Given the description of an element on the screen output the (x, y) to click on. 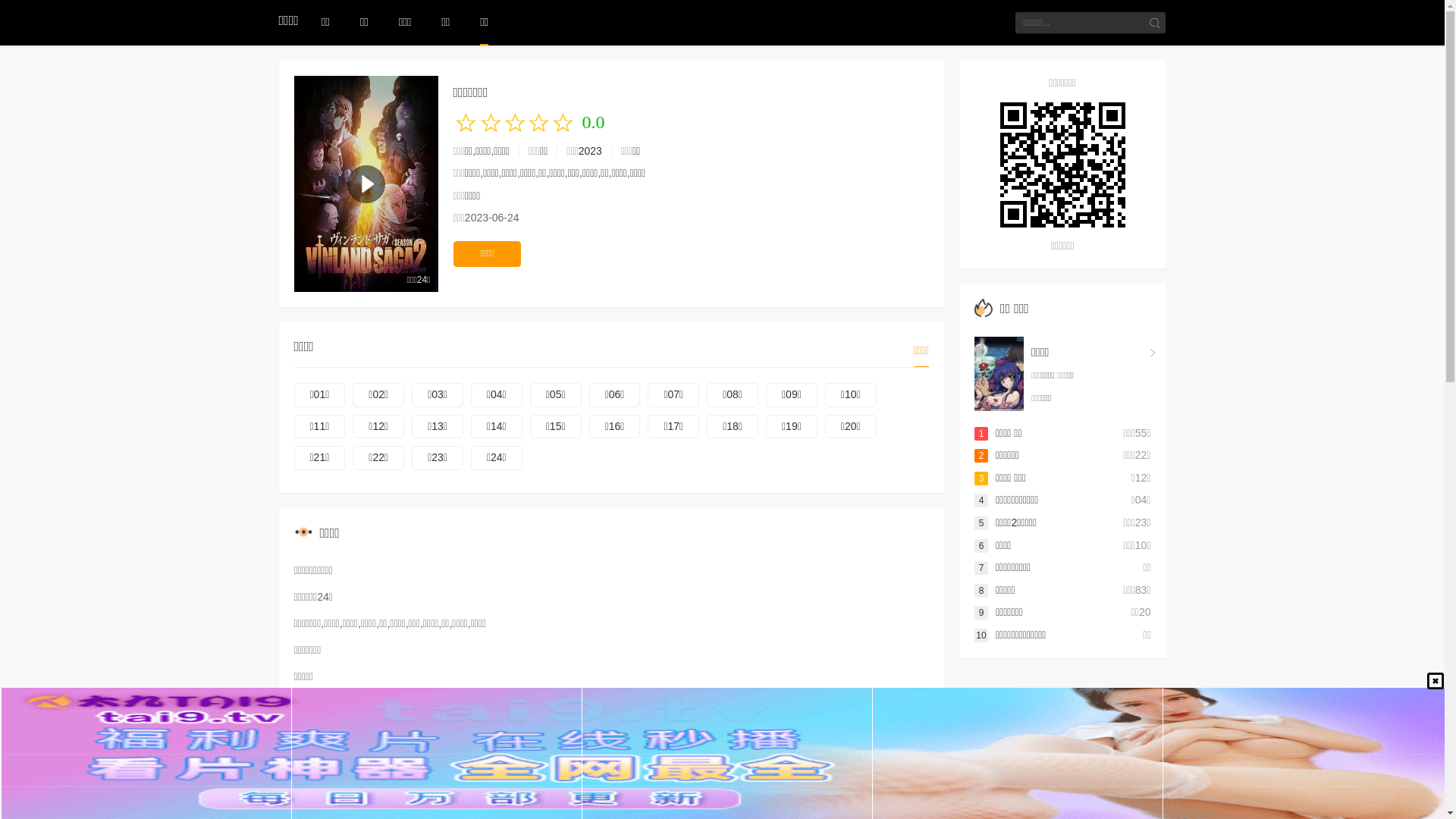
2023 Element type: text (590, 150)
